Given the description of an element on the screen output the (x, y) to click on. 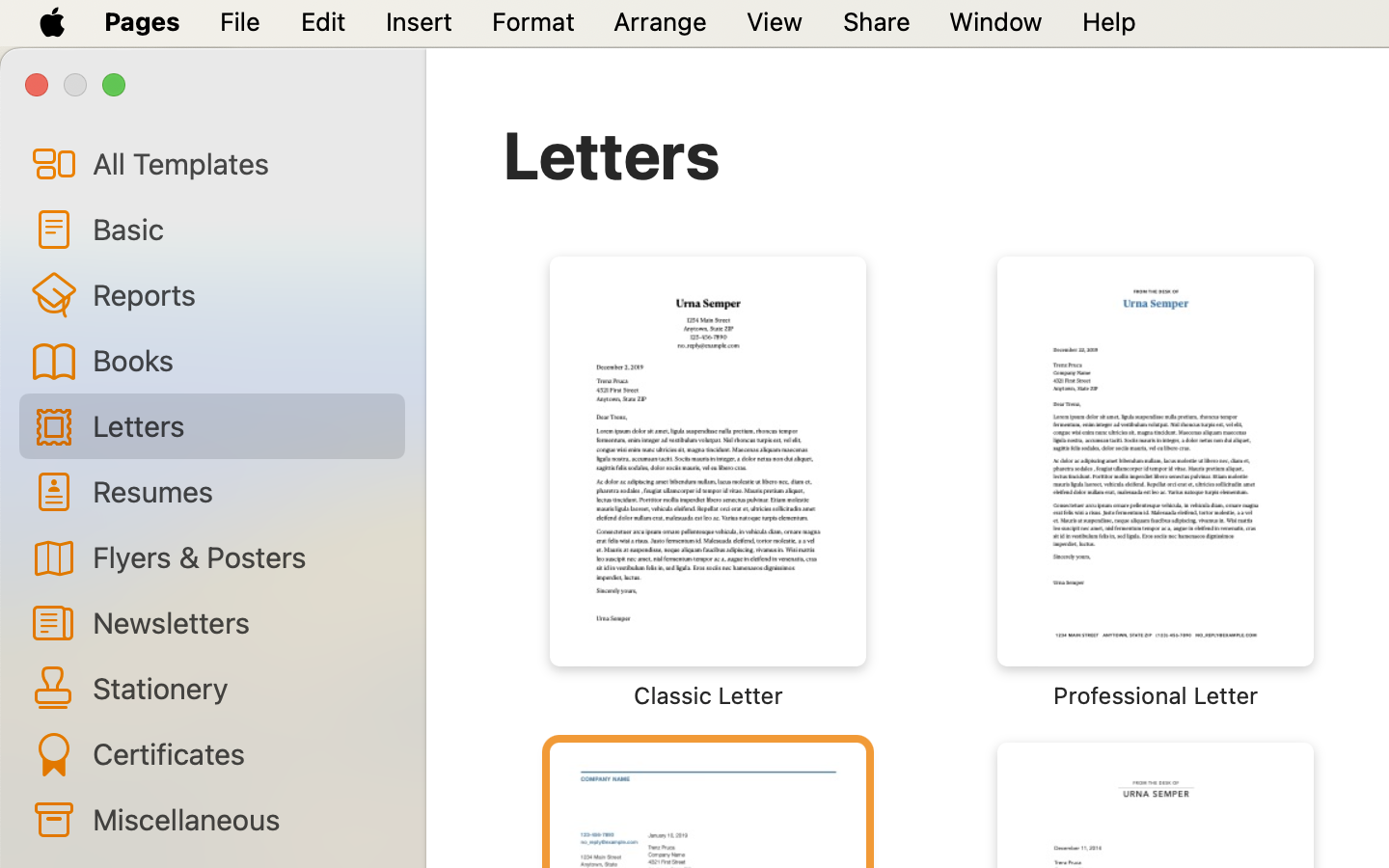
Miscellaneous Element type: AXStaticText (240, 818)
Books Element type: AXStaticText (240, 359)
Stationery Element type: AXStaticText (240, 687)
